Given the description of an element on the screen output the (x, y) to click on. 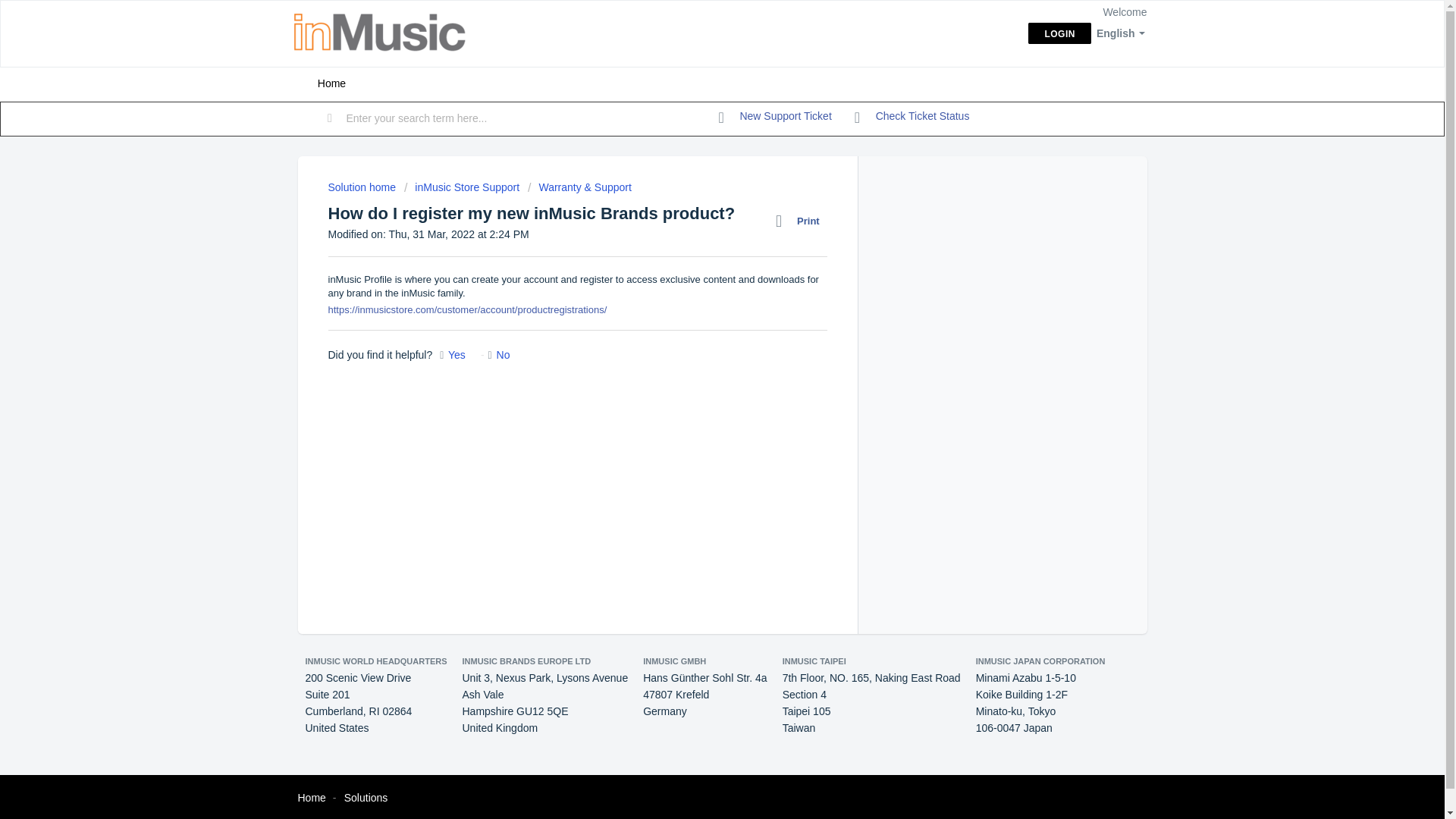
LOGIN (1058, 33)
Solution home (362, 186)
New support ticket (775, 116)
Print this Article (801, 220)
Home (310, 797)
Solutions (365, 797)
Check ticket status (911, 116)
New Support Ticket (775, 116)
inMusic Store Support (461, 186)
Home (331, 83)
